Given the description of an element on the screen output the (x, y) to click on. 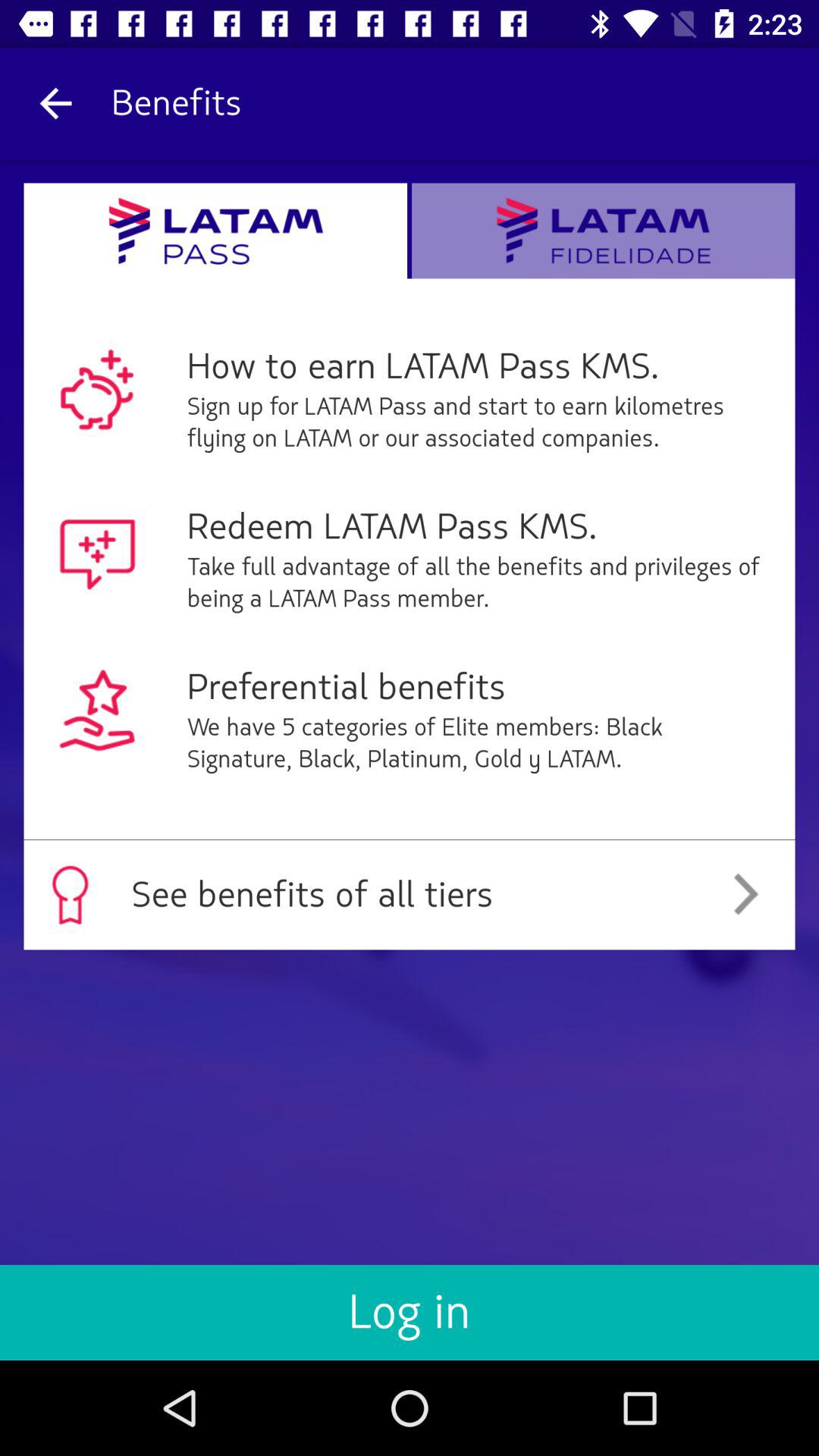
tab uses for the pass (215, 230)
